Given the description of an element on the screen output the (x, y) to click on. 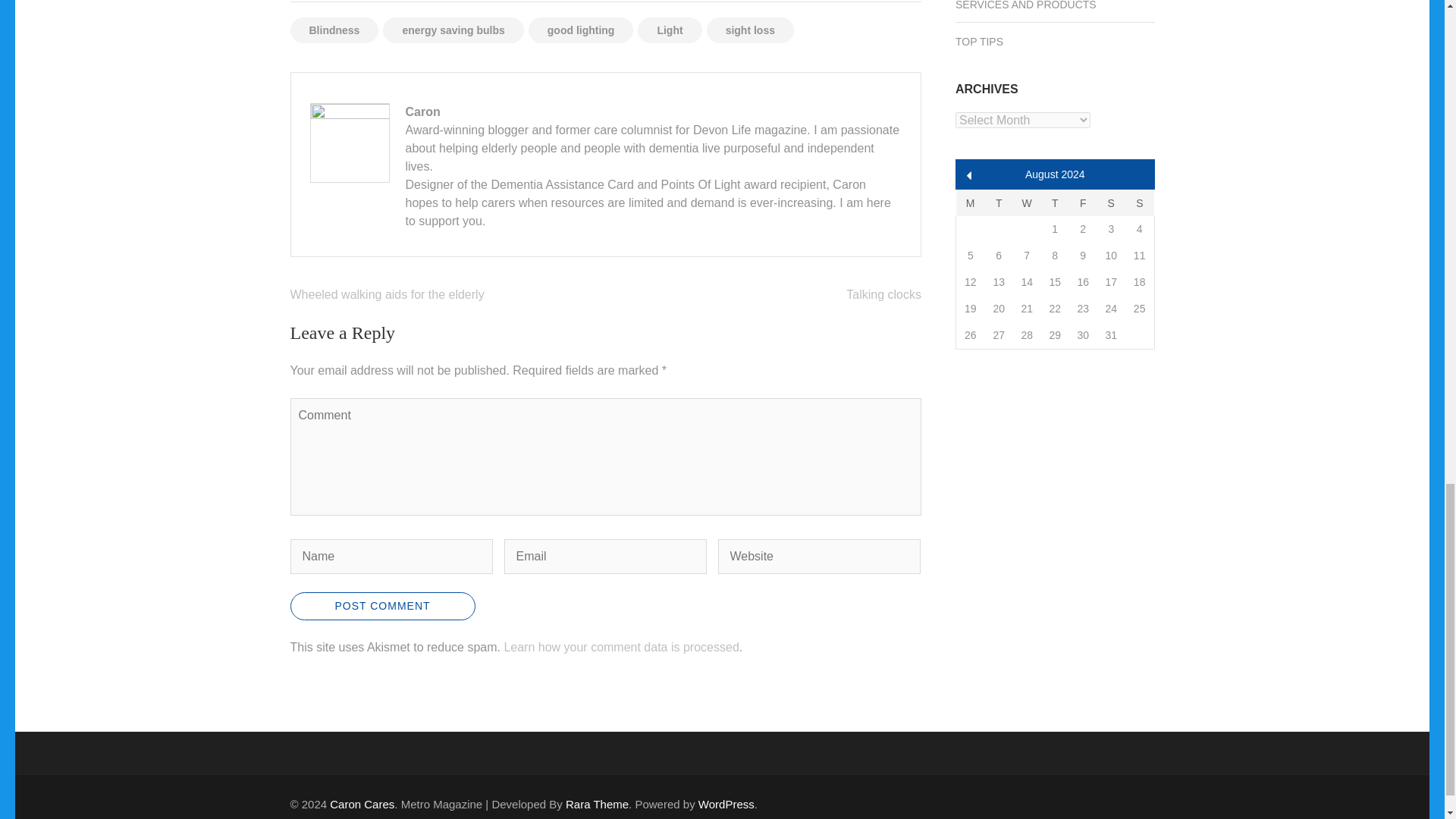
Light (669, 30)
Tuesday (999, 202)
Wednesday (1027, 202)
Friday (1082, 202)
energy saving bulbs (452, 30)
Thursday (1054, 202)
good lighting (580, 30)
Wheeled walking aids for the elderly (386, 294)
sight loss (749, 30)
Post Comment (381, 605)
